Given the description of an element on the screen output the (x, y) to click on. 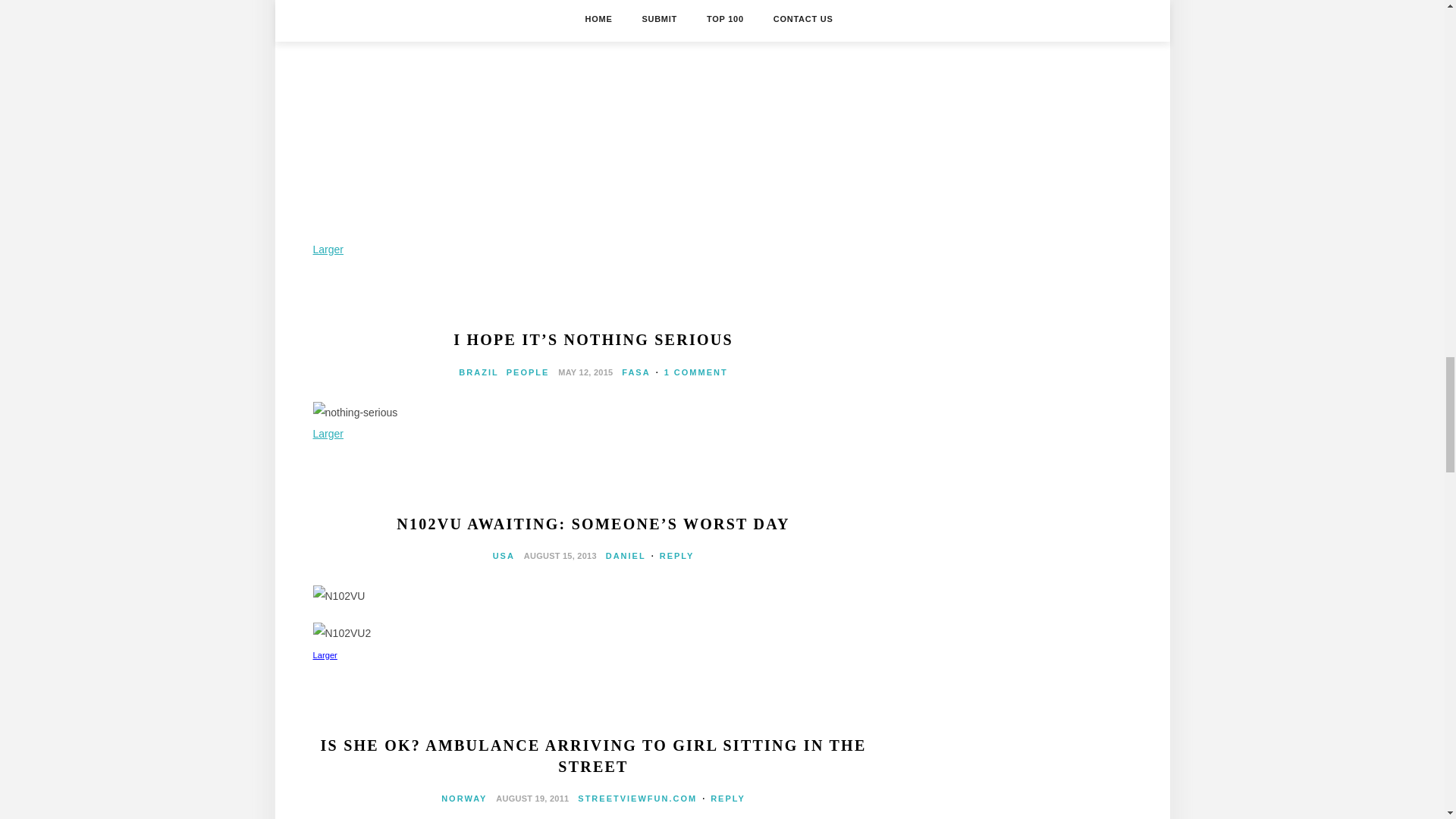
Posts by StreetViewFun.com (637, 798)
Posts by fasa (635, 371)
Posts by Daniel (625, 555)
